Given the description of an element on the screen output the (x, y) to click on. 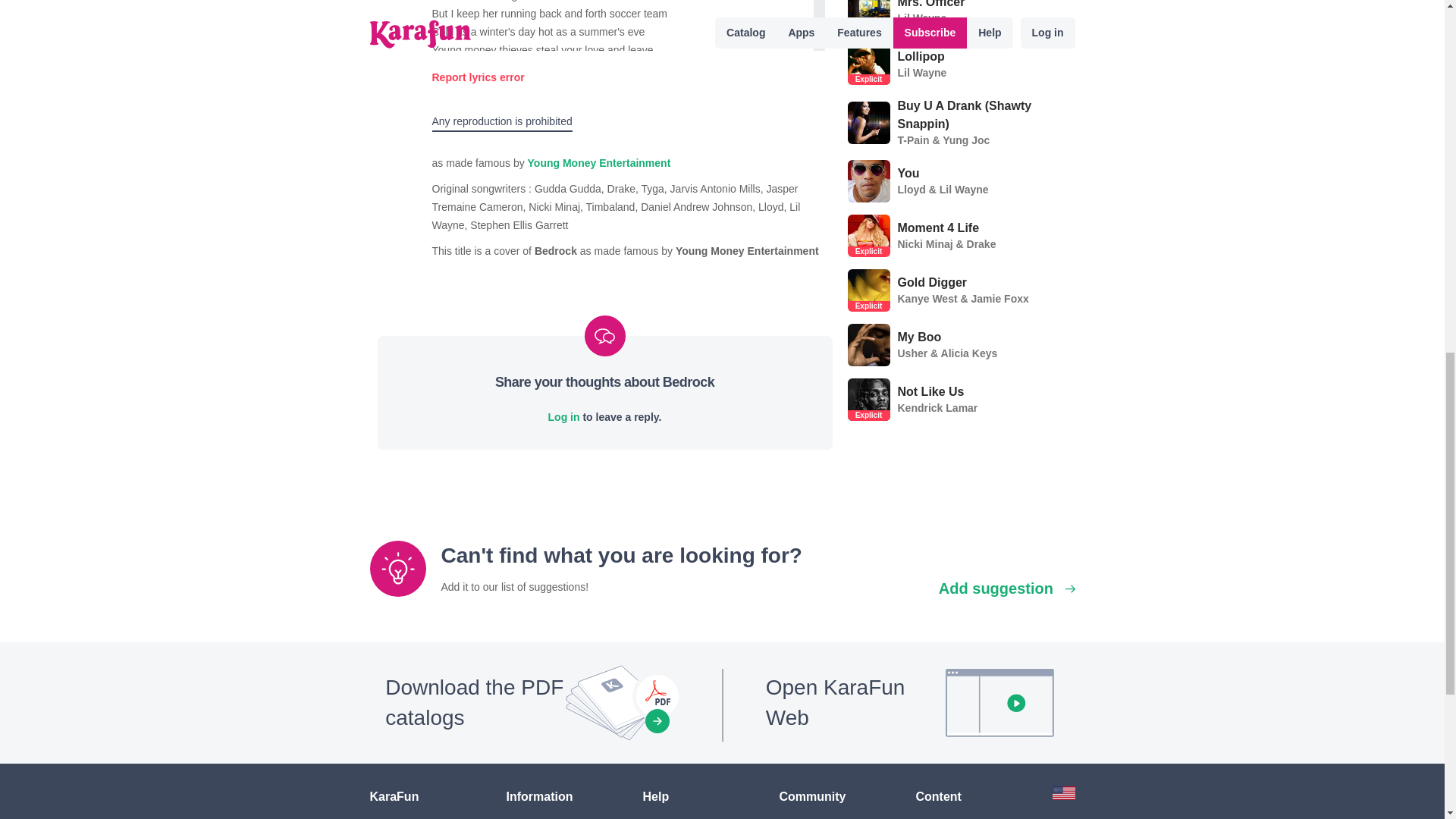
I like the way you walk it and if your walkin' my way  (622, 68)
Cancel modifications (485, 77)
Explicit (868, 251)
Lollipop (922, 56)
Lil Wayne (922, 72)
I putta hugga  (622, 158)
I'll let you be the judge and, and, and I'm the case  (622, 122)
Other countries (1063, 795)
I'm that red bull now lets fly away  (622, 85)
Cold as a winter's day hot as a summer's eve  (622, 32)
Explicit (868, 79)
But I keep her running back and forth soccer team  (622, 13)
Mrs. Officer (931, 5)
Lil Wayne (922, 18)
I hate to see her go but I love to watch her leave  (622, 2)
